Given the description of an element on the screen output the (x, y) to click on. 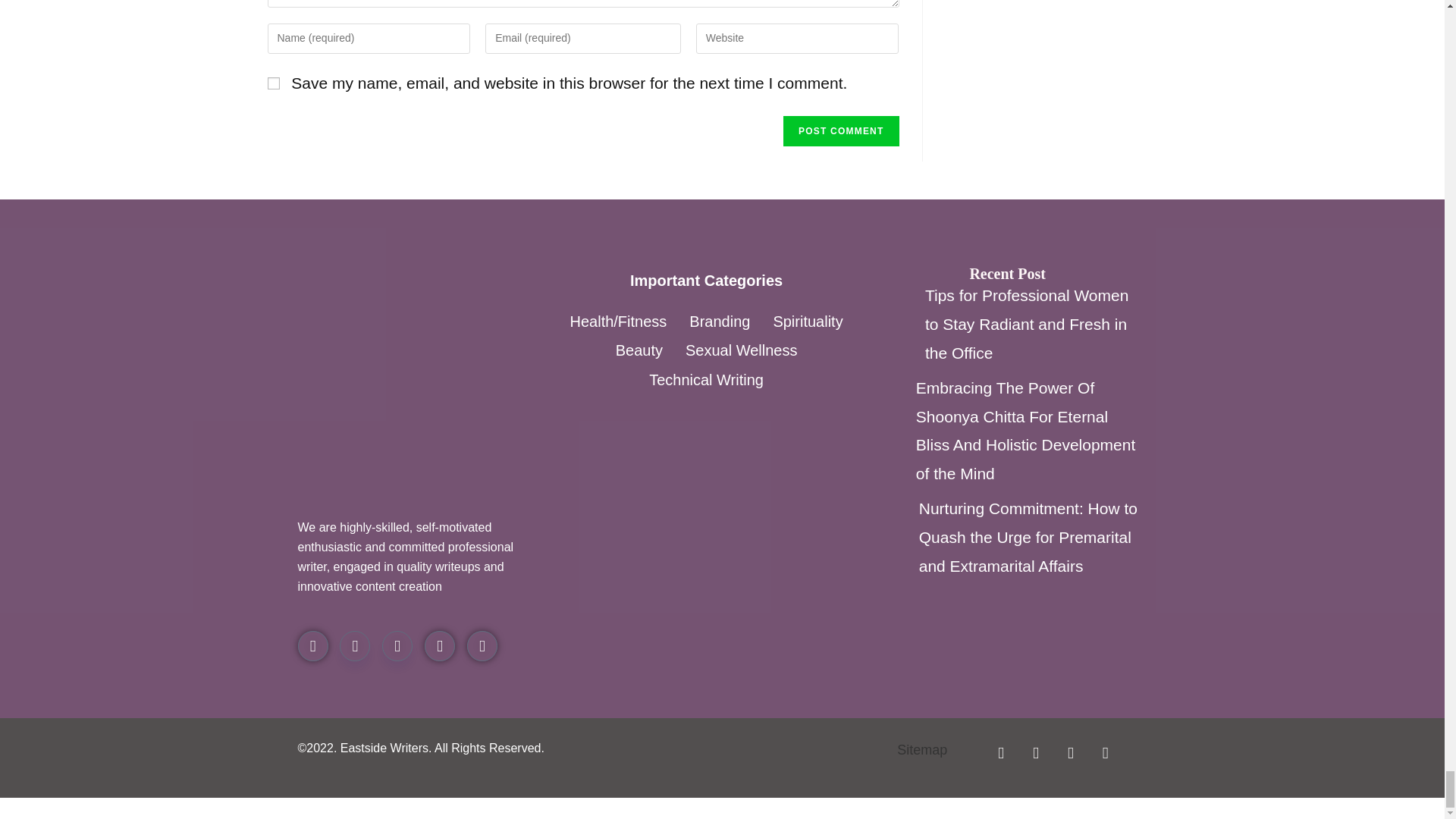
Post Comment (840, 131)
yes (272, 82)
